Given the description of an element on the screen output the (x, y) to click on. 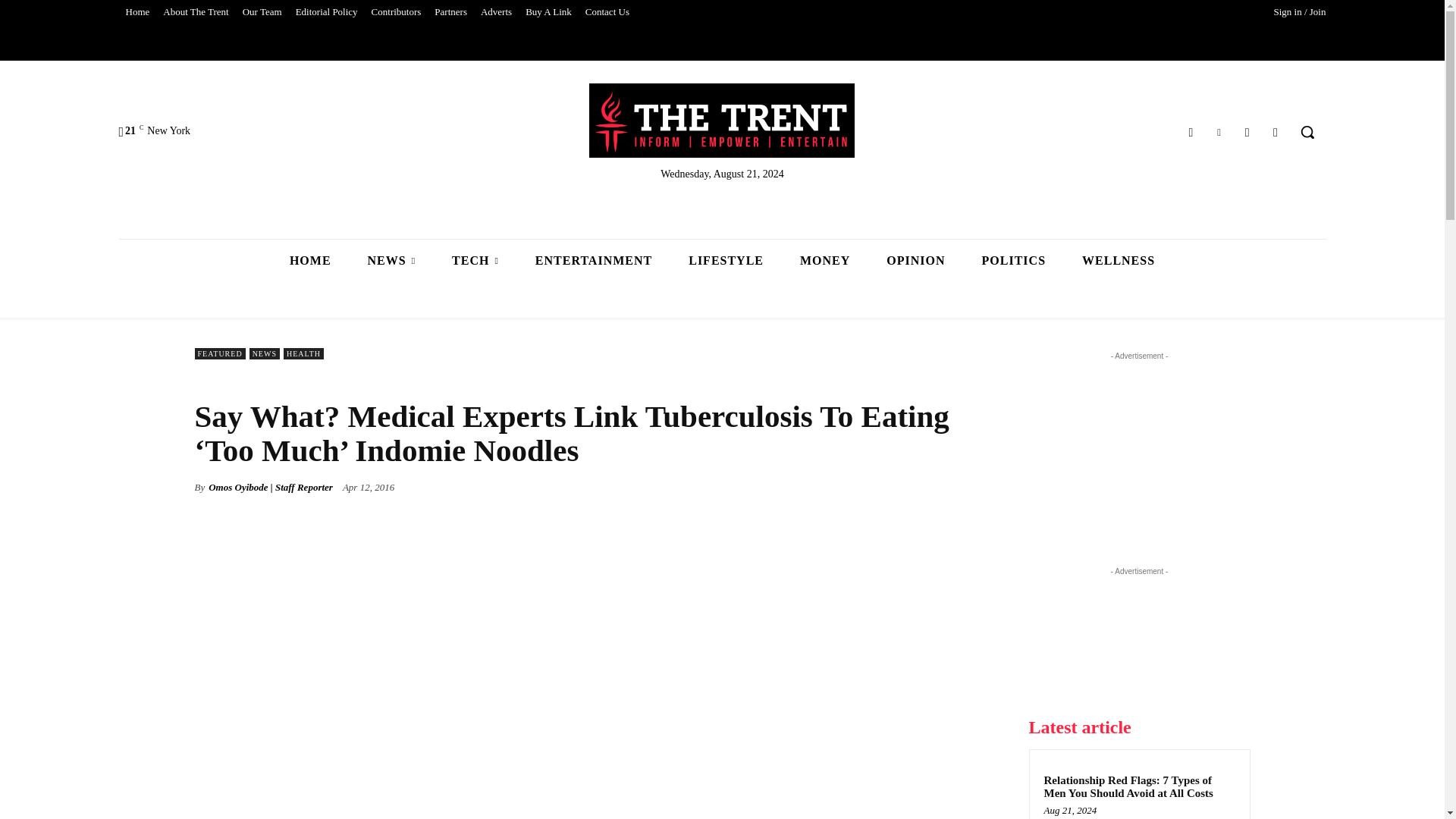
Facebook (1190, 132)
Rss (1275, 132)
Instagram (1246, 132)
Twitter (1218, 132)
